Given the description of an element on the screen output the (x, y) to click on. 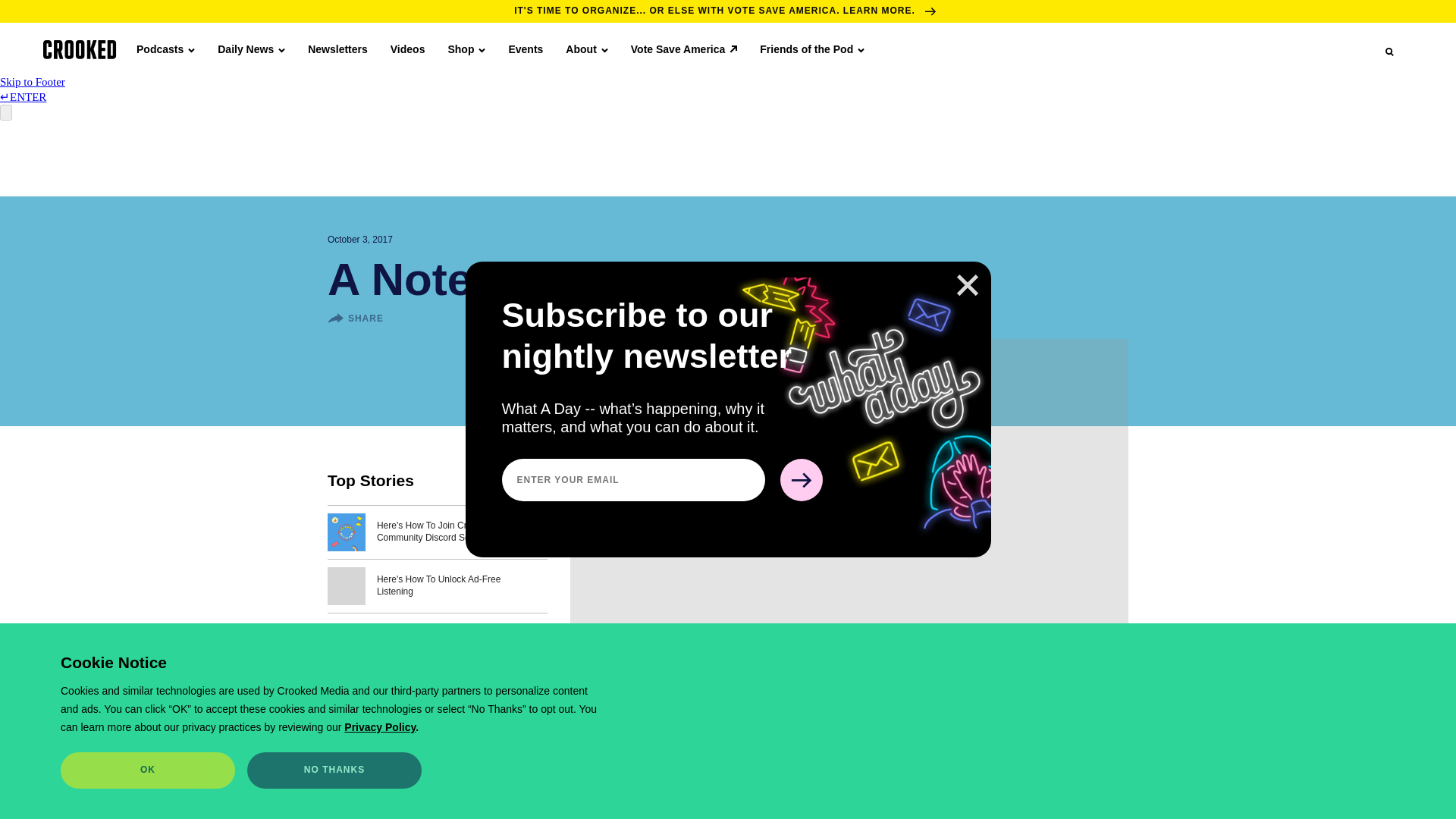
Daily News (250, 48)
About (586, 48)
Events (525, 48)
Friends of the Pod (812, 48)
Shop (465, 48)
Podcasts (165, 48)
Videos (407, 48)
Newsletters (337, 48)
Vote Save America (684, 48)
